Given the description of an element on the screen output the (x, y) to click on. 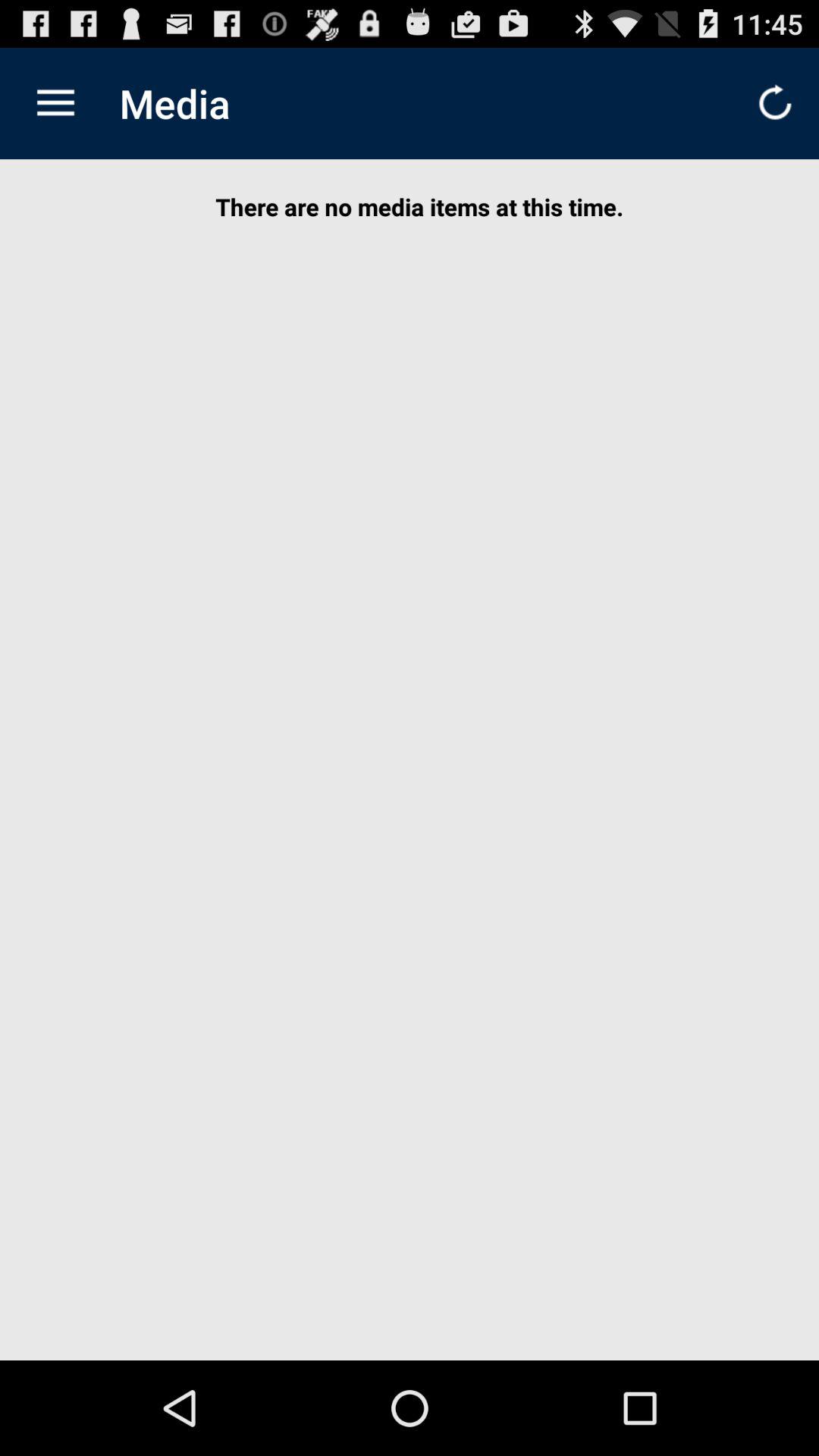
press icon next to media item (55, 103)
